Given the description of an element on the screen output the (x, y) to click on. 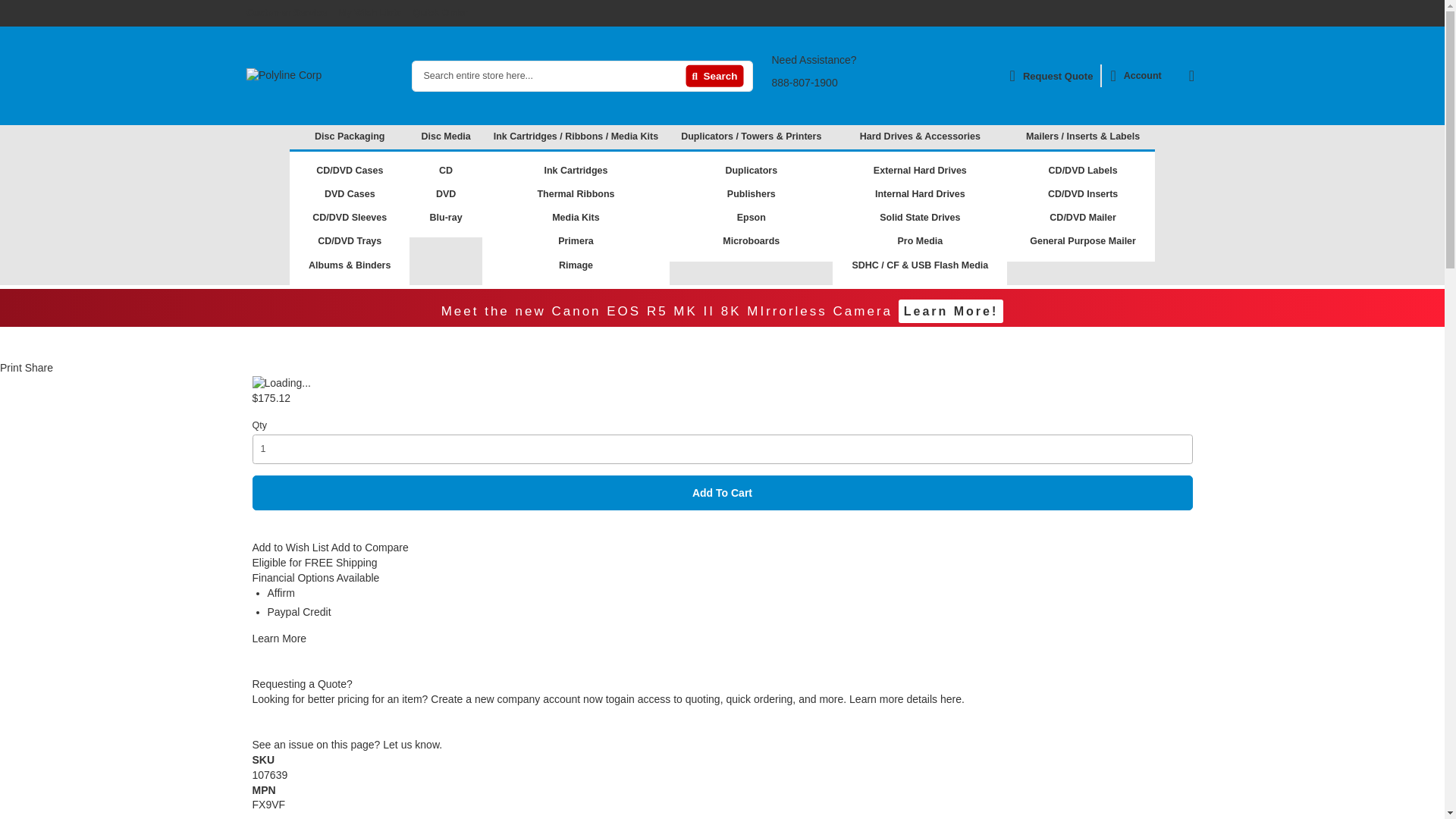
Search (713, 75)
Request Quote (1051, 75)
Disc Media (445, 136)
Microboards (750, 240)
My Wish Lists (369, 12)
Thermal Ribbons (575, 194)
Report Issue (346, 744)
Media Kits (575, 217)
888-807-1900 (804, 82)
Search (713, 75)
Share (38, 367)
Publishers (751, 194)
DVD (446, 194)
Quick Order (440, 12)
Add to Cart (721, 492)
